Given the description of an element on the screen output the (x, y) to click on. 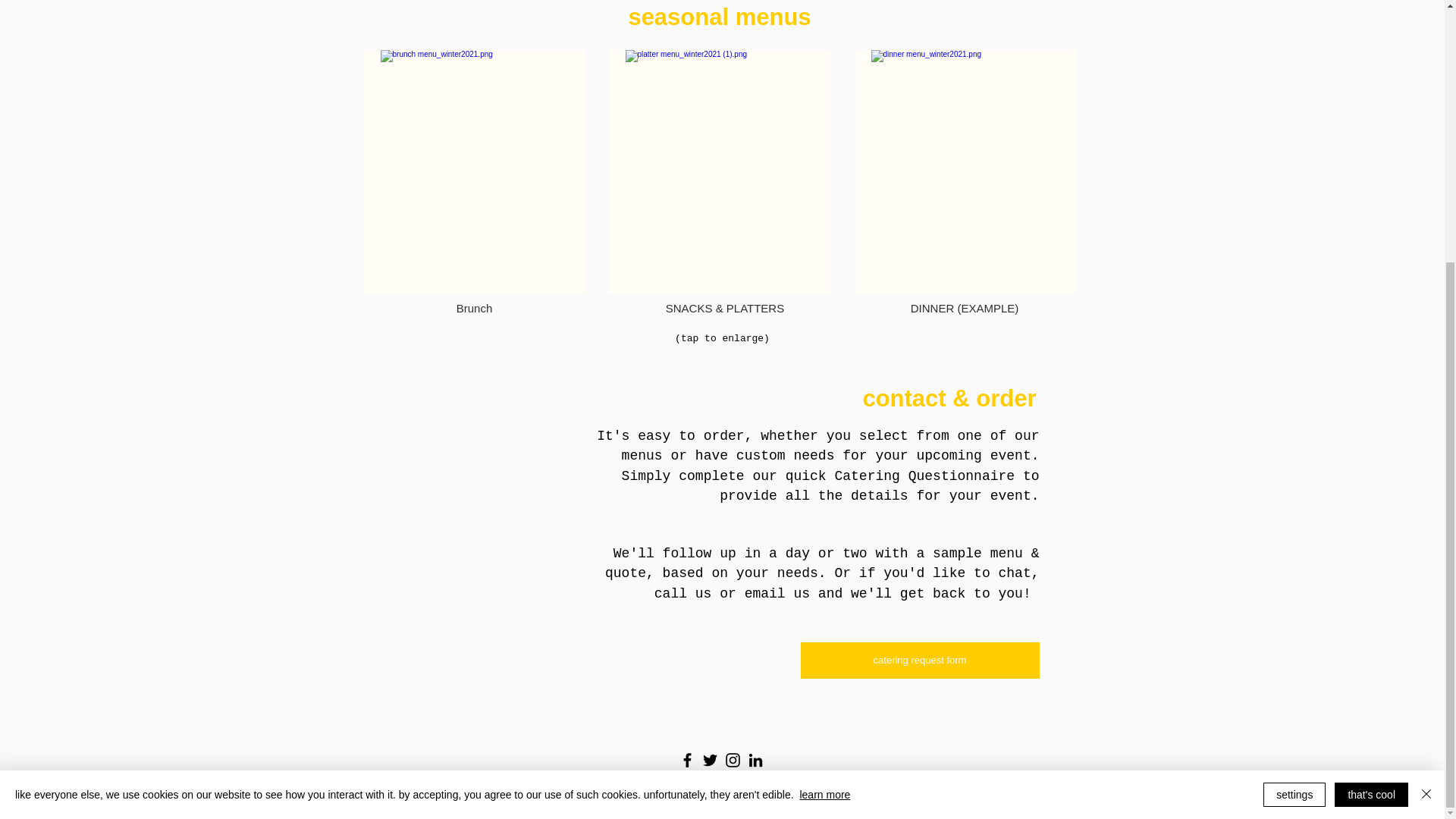
learn more (824, 417)
settings (1293, 416)
catering request form (919, 660)
that's cool (1371, 416)
